Given the description of an element on the screen output the (x, y) to click on. 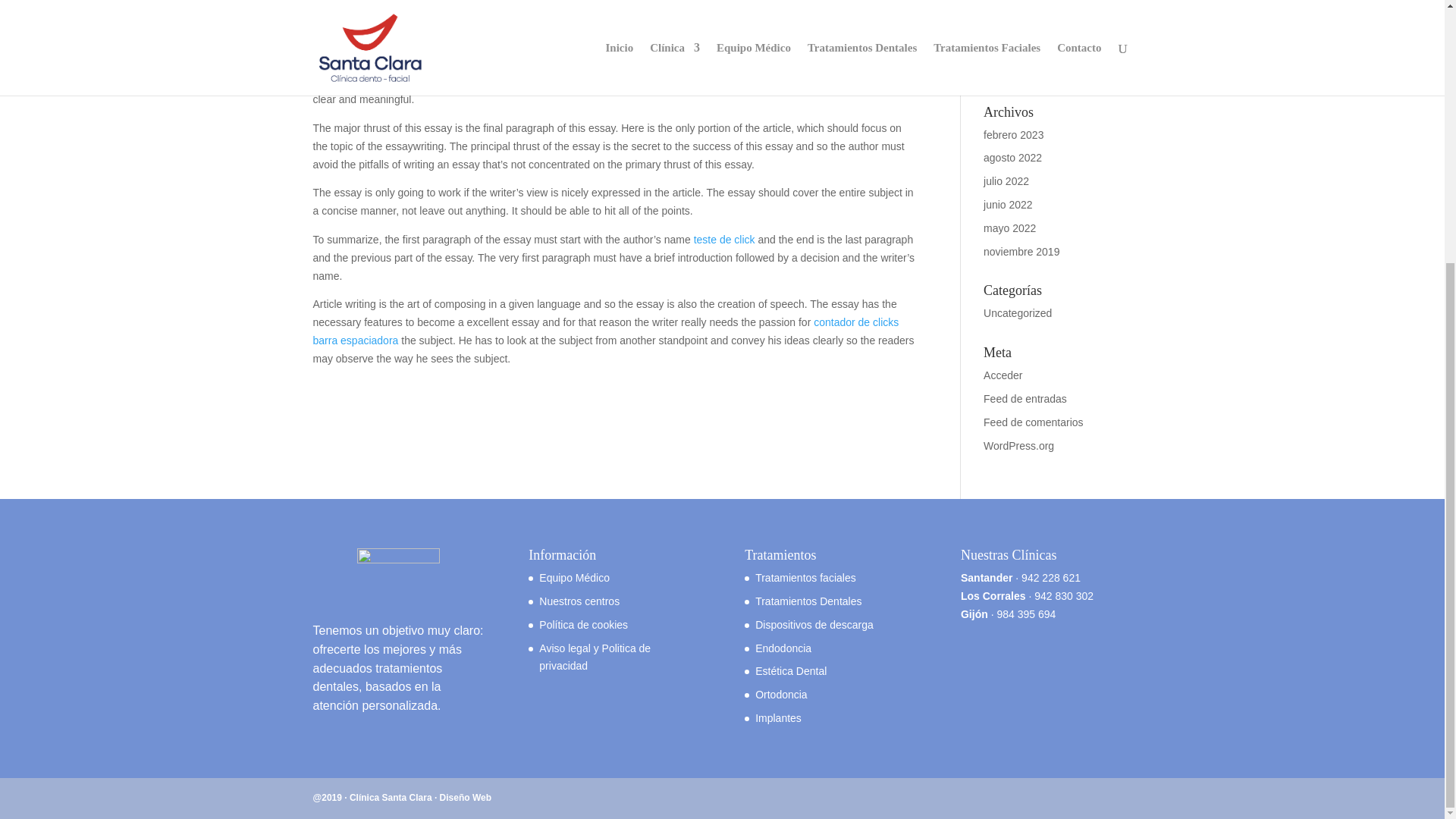
julio 2022 (1006, 181)
febrero 2023 (1013, 134)
mayo 2022 (1009, 227)
Feed de entradas (1025, 398)
Endodoncia (782, 648)
Dispositivos de descarga (814, 624)
Hello world! (1011, 72)
WordPress.org (1019, 445)
junio 2022 (1008, 204)
Tratamientos faciales (805, 577)
